Given the description of an element on the screen output the (x, y) to click on. 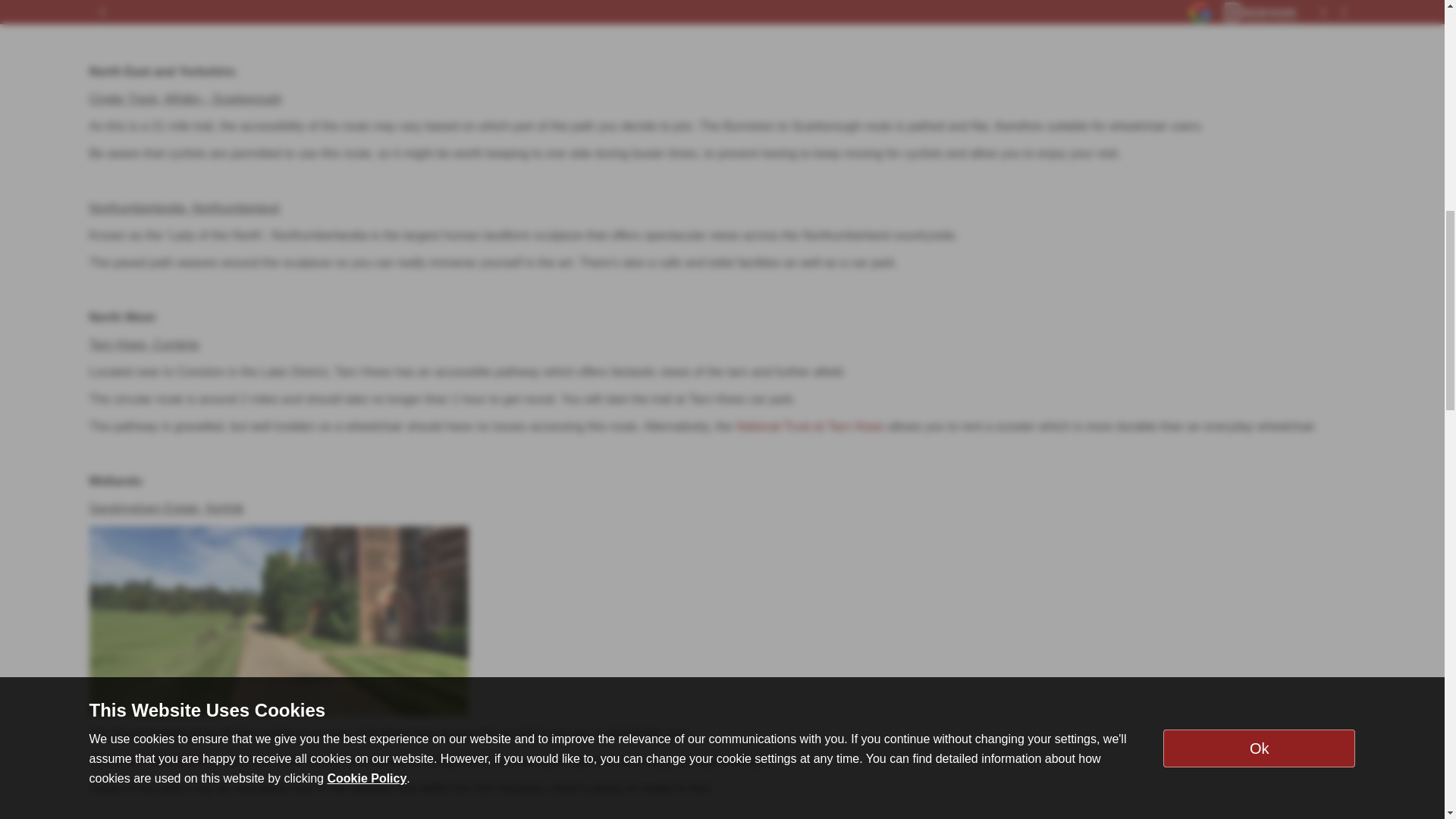
National Trust at Tarn Hows (809, 426)
accessible parking (166, 760)
